Given the description of an element on the screen output the (x, y) to click on. 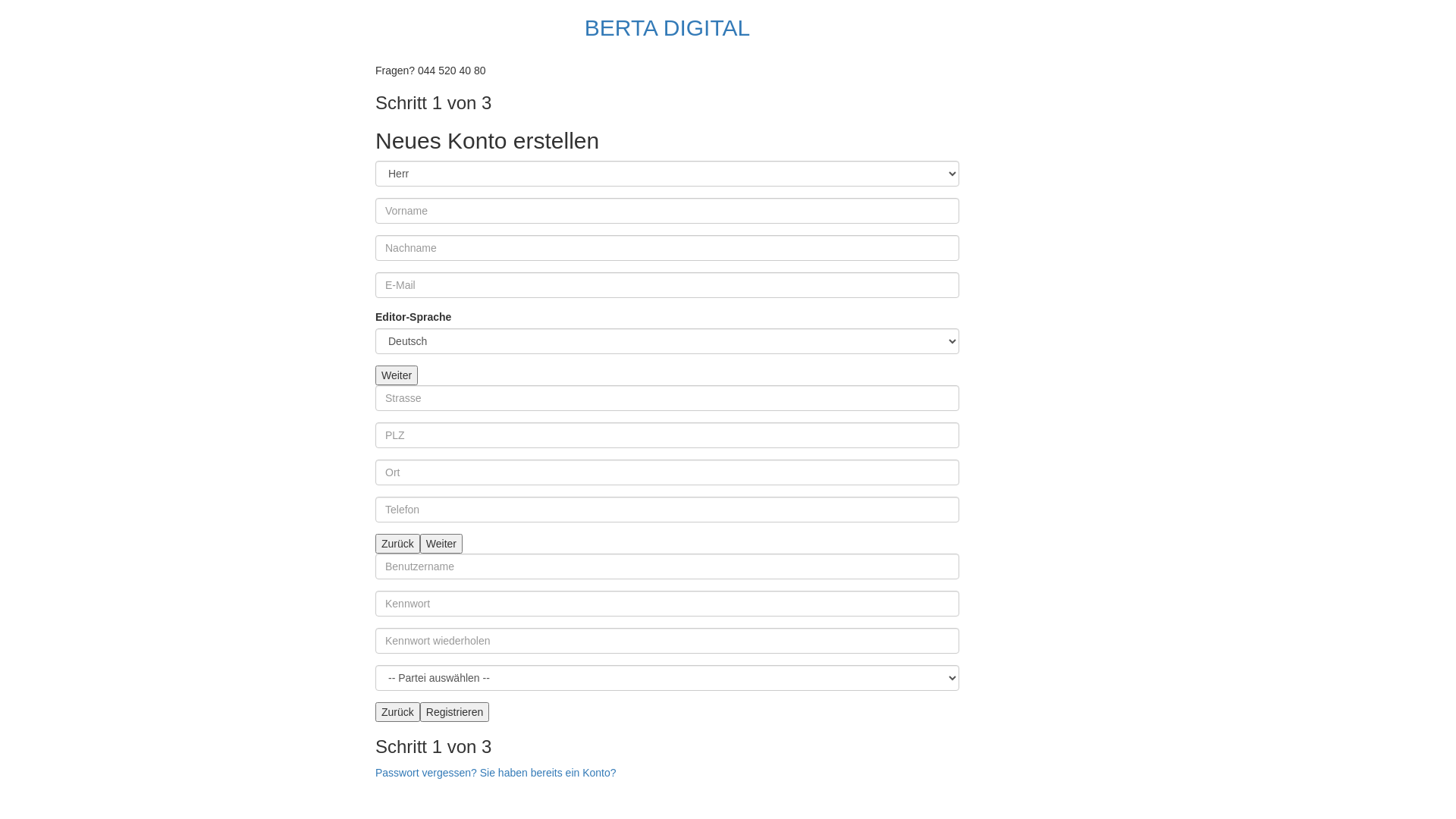
Weiter Element type: text (396, 375)
BERTA DIGITAL Element type: text (666, 27)
Registrieren Element type: text (454, 711)
Sie haben bereits ein Konto? Element type: text (548, 772)
Weiter Element type: text (441, 543)
Passwort vergessen? Element type: text (425, 772)
